Given the description of an element on the screen output the (x, y) to click on. 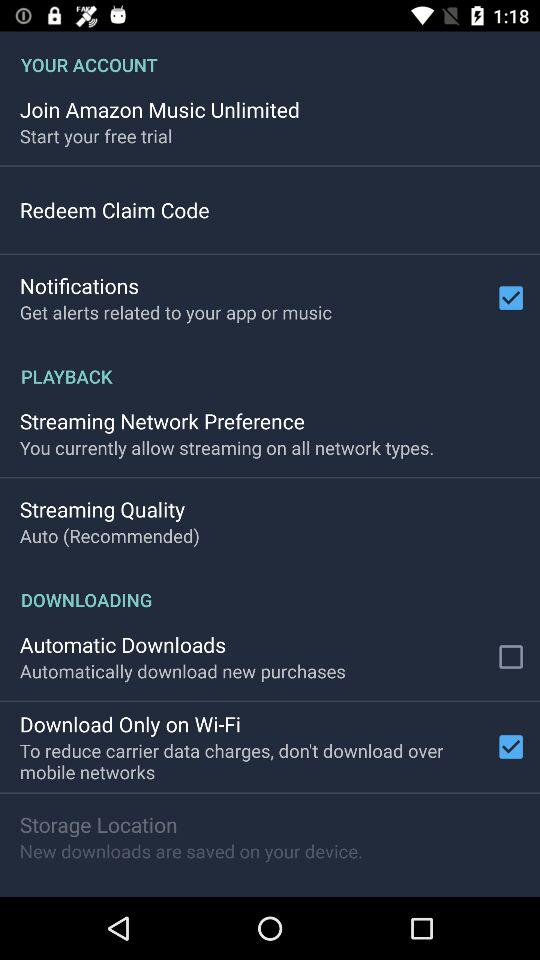
press the app above storage location item (253, 761)
